Given the description of an element on the screen output the (x, y) to click on. 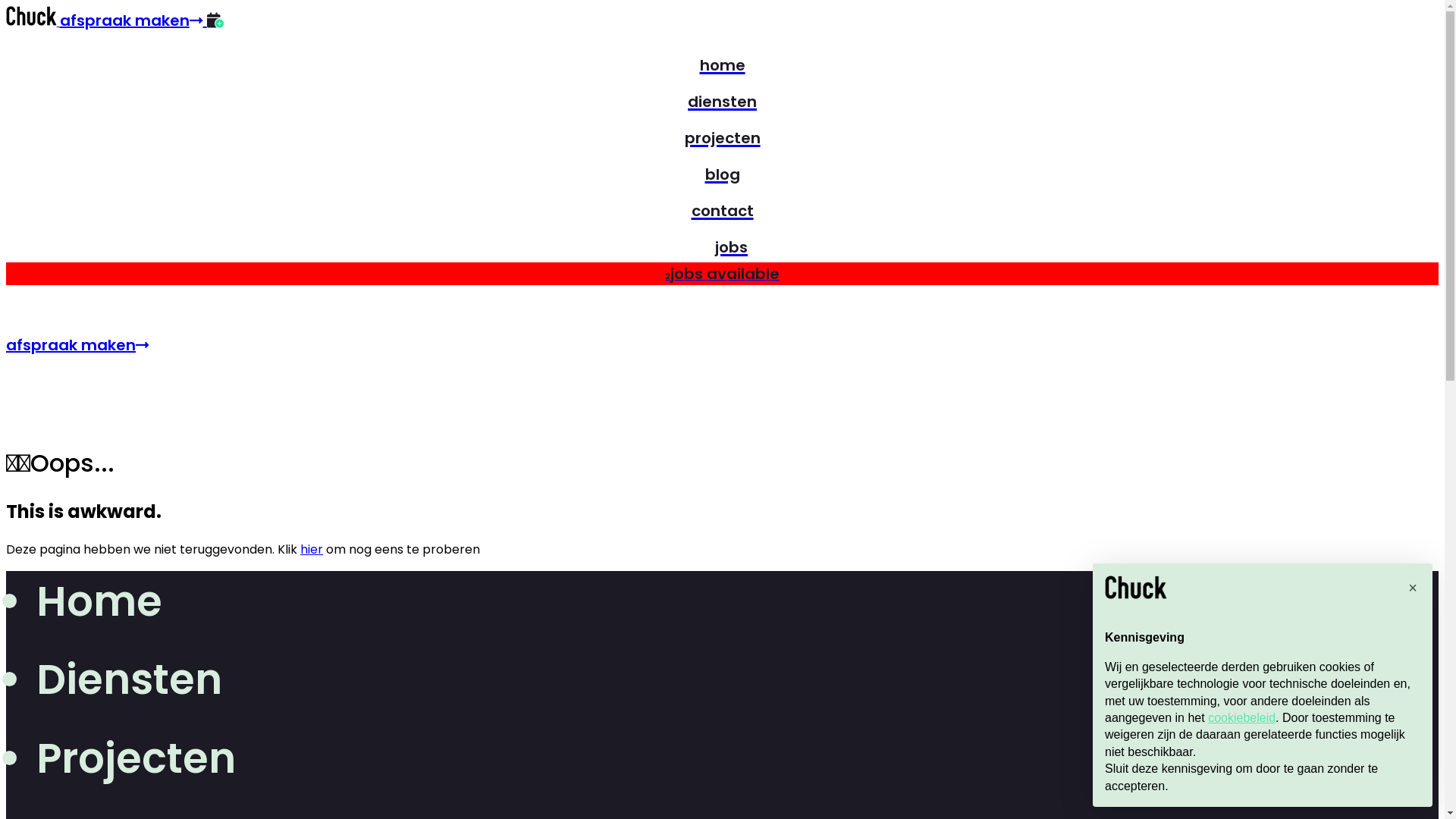
afspraak maken Element type: text (133, 20)
Diensten Element type: text (129, 679)
contact Element type: text (722, 207)
hier Element type: text (311, 549)
projecten Element type: text (721, 134)
Projecten Element type: text (135, 758)
jobs
2jobs available Element type: text (722, 273)
diensten Element type: text (722, 98)
blog Element type: text (722, 170)
afspraak maken Element type: text (77, 344)
Home Element type: text (99, 601)
home Element type: text (721, 61)
cookiebeleid Element type: text (1241, 717)
